Given the description of an element on the screen output the (x, y) to click on. 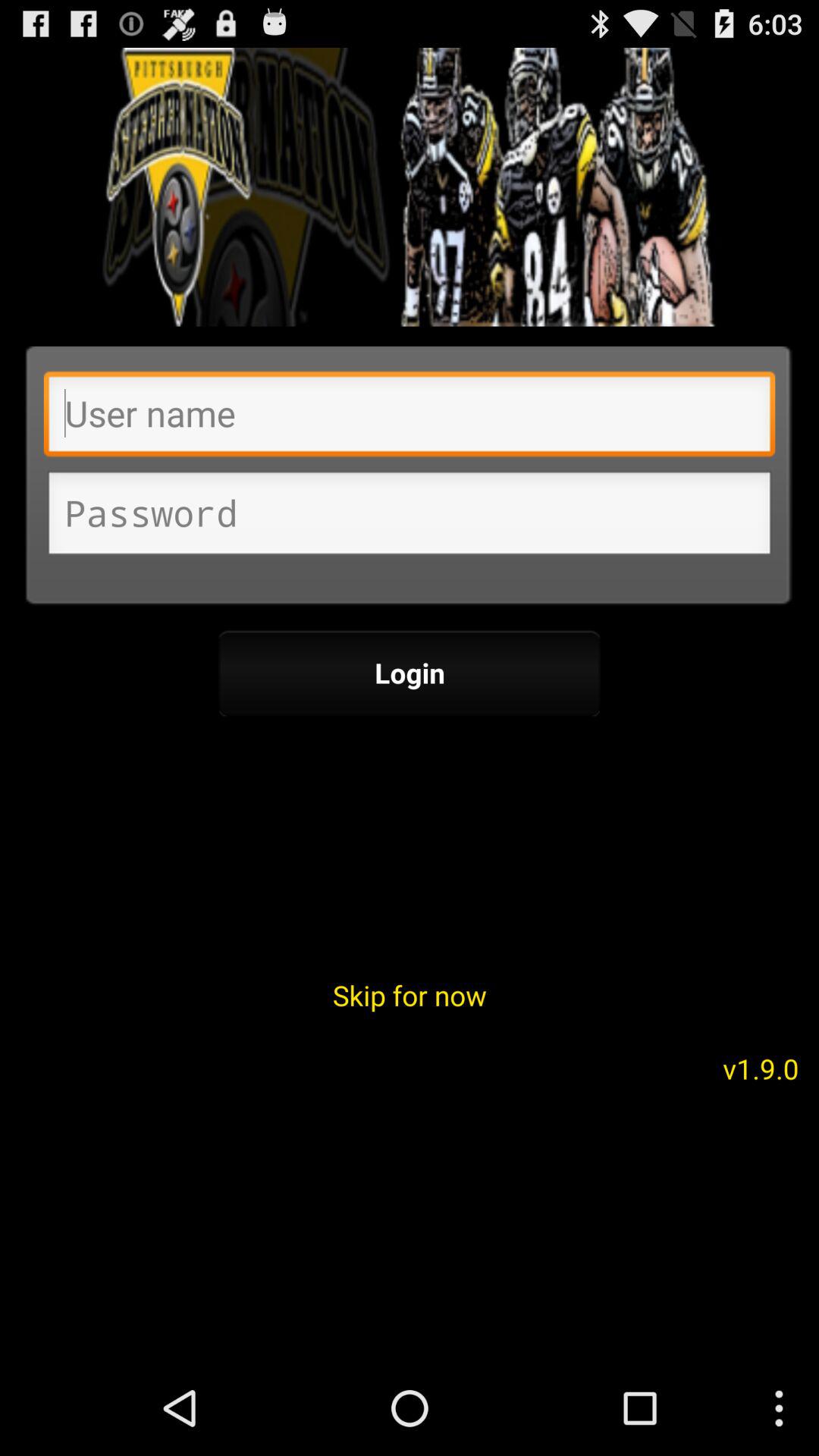
scroll until login icon (409, 672)
